Given the description of an element on the screen output the (x, y) to click on. 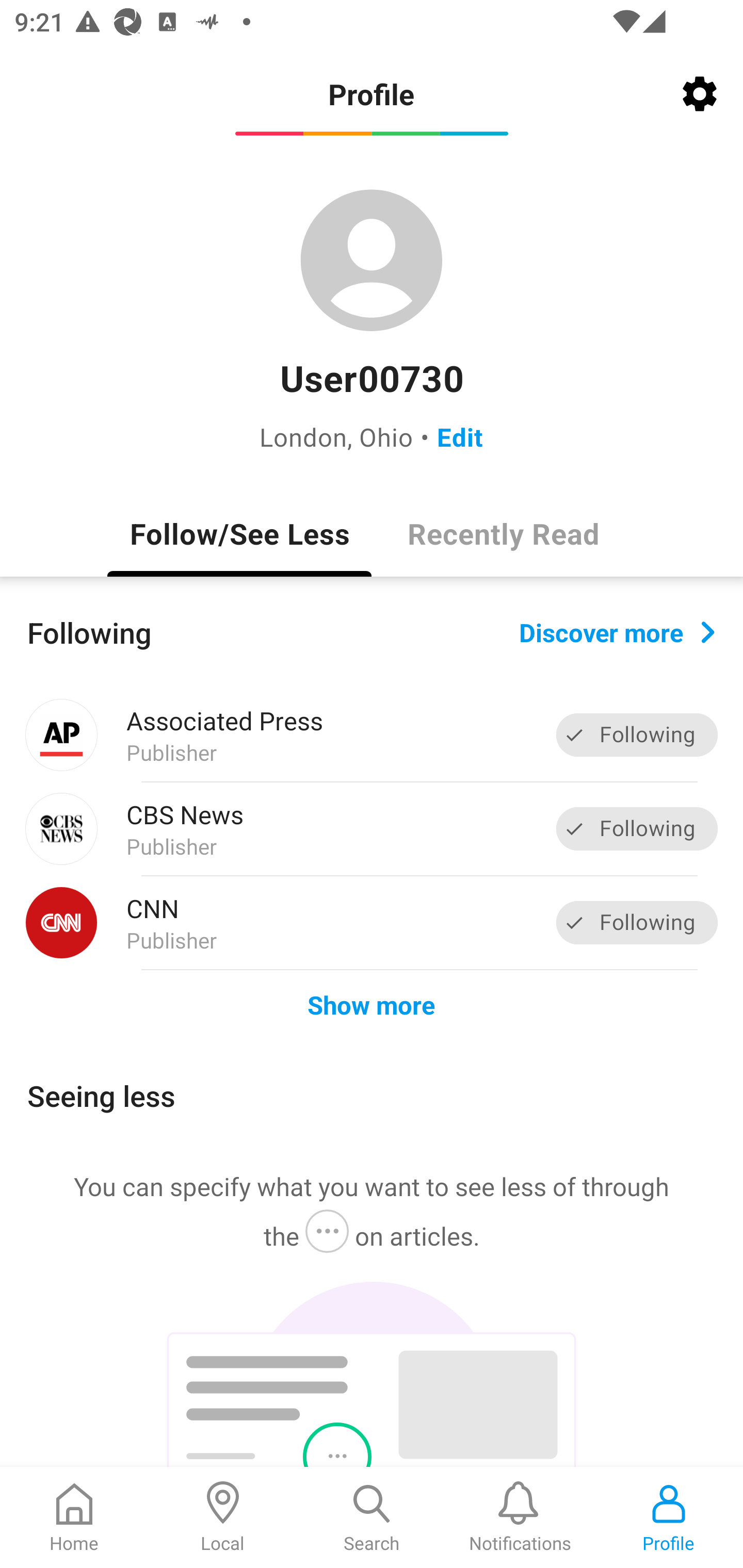
Settings (699, 93)
Edit (459, 436)
Recently Read (503, 533)
Discover more (617, 631)
Associated Press Publisher Following (371, 735)
Following (636, 735)
CBS News Publisher Following (371, 829)
Following (636, 828)
CNN Publisher Following (371, 922)
Following (636, 922)
Show more (371, 1004)
Home (74, 1517)
Local (222, 1517)
Search (371, 1517)
Notifications (519, 1517)
